Given the description of an element on the screen output the (x, y) to click on. 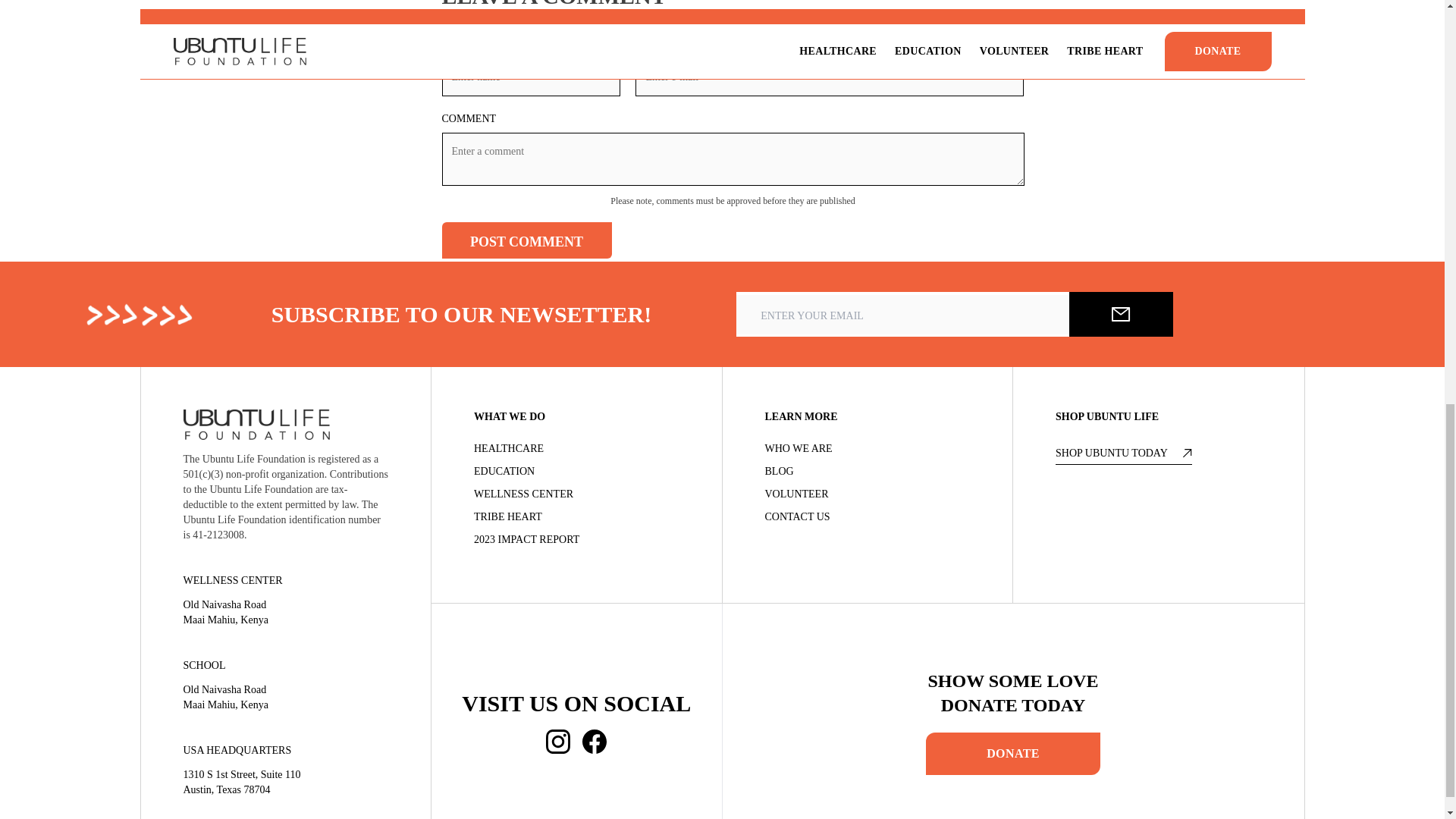
BLOG (866, 471)
CONTACT US (866, 516)
POST COMMENT (526, 239)
SHOP UBUNTU TODAY (1123, 455)
2023 IMPACT REPORT (576, 539)
WHO WE ARE (866, 448)
WELLNESS CENTER (576, 494)
EDUCATION (576, 471)
VOLUNTEER (866, 494)
TRIBE HEART (576, 516)
